Given the description of an element on the screen output the (x, y) to click on. 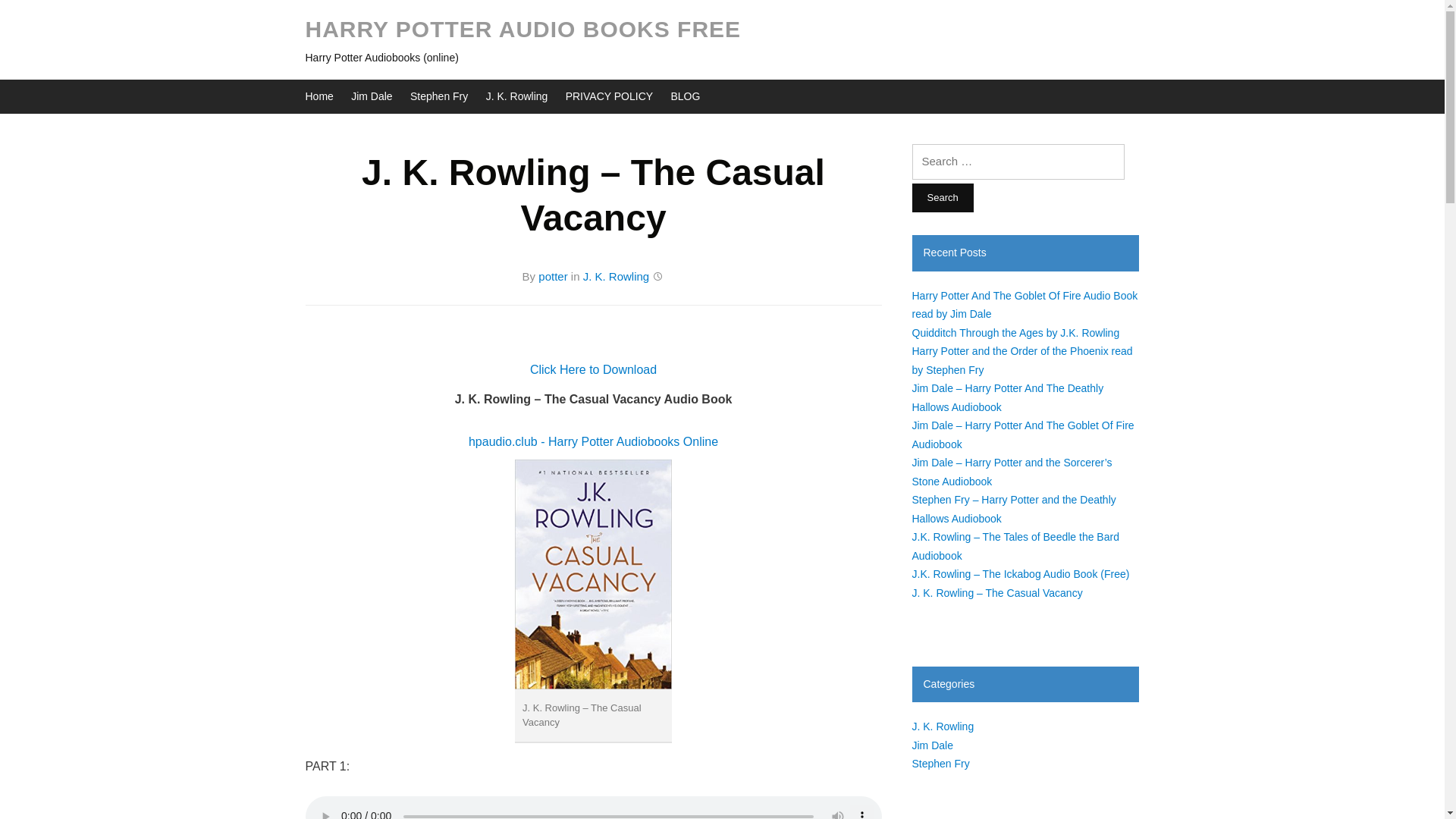
Search (941, 197)
potter (552, 276)
Jim Dale (370, 96)
J. K. Rowling (616, 276)
Click Here to Download (592, 369)
- Harry Potter Audiobooks Online (628, 440)
HARRY POTTER AUDIO BOOKS FREE (522, 28)
PRIVACY POLICY (609, 96)
hpaudio.club (502, 440)
Stephen Fry (438, 96)
